Given the description of an element on the screen output the (x, y) to click on. 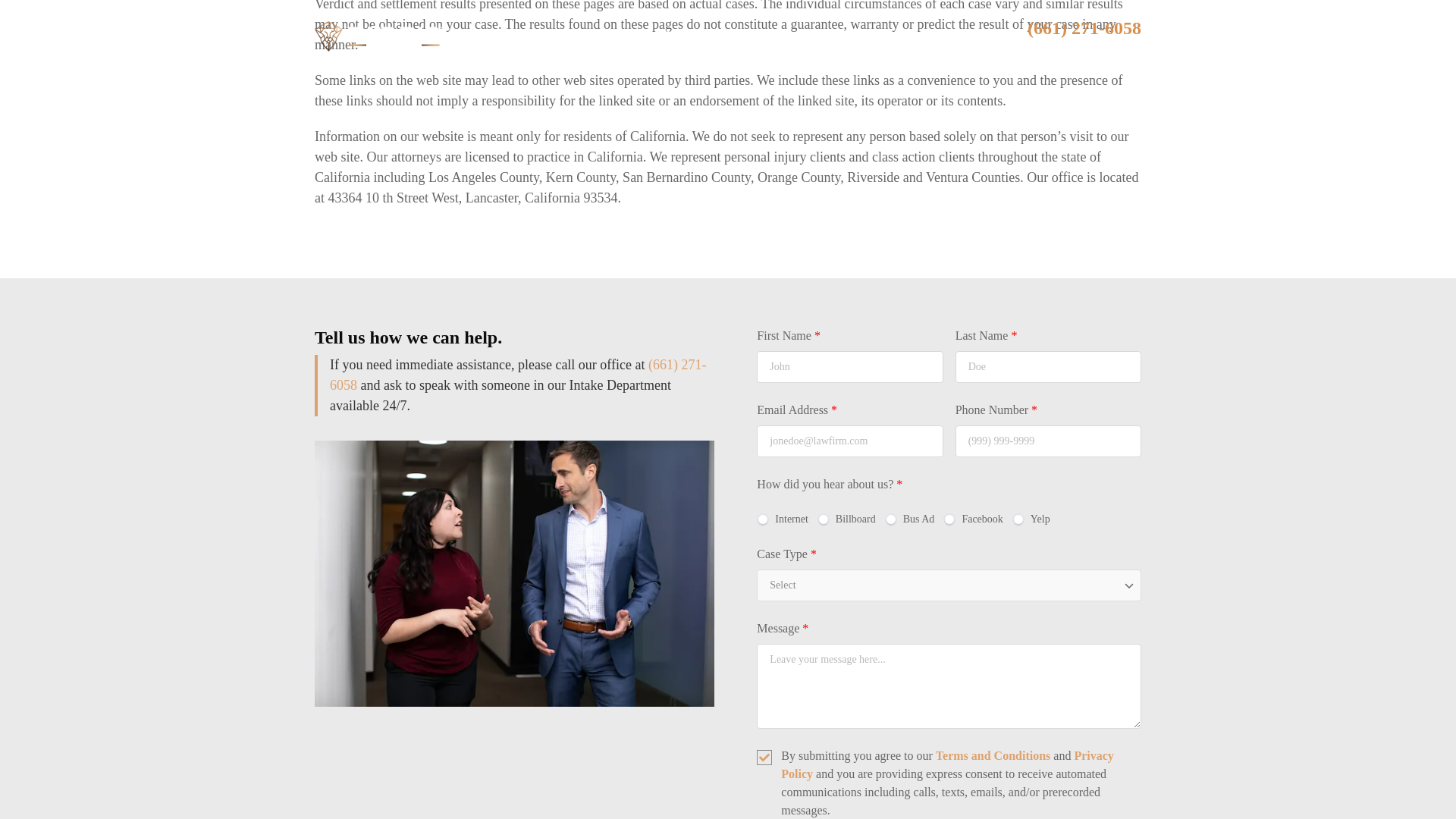
Privacy Policy (946, 764)
Terms and Conditions (992, 755)
